Given the description of an element on the screen output the (x, y) to click on. 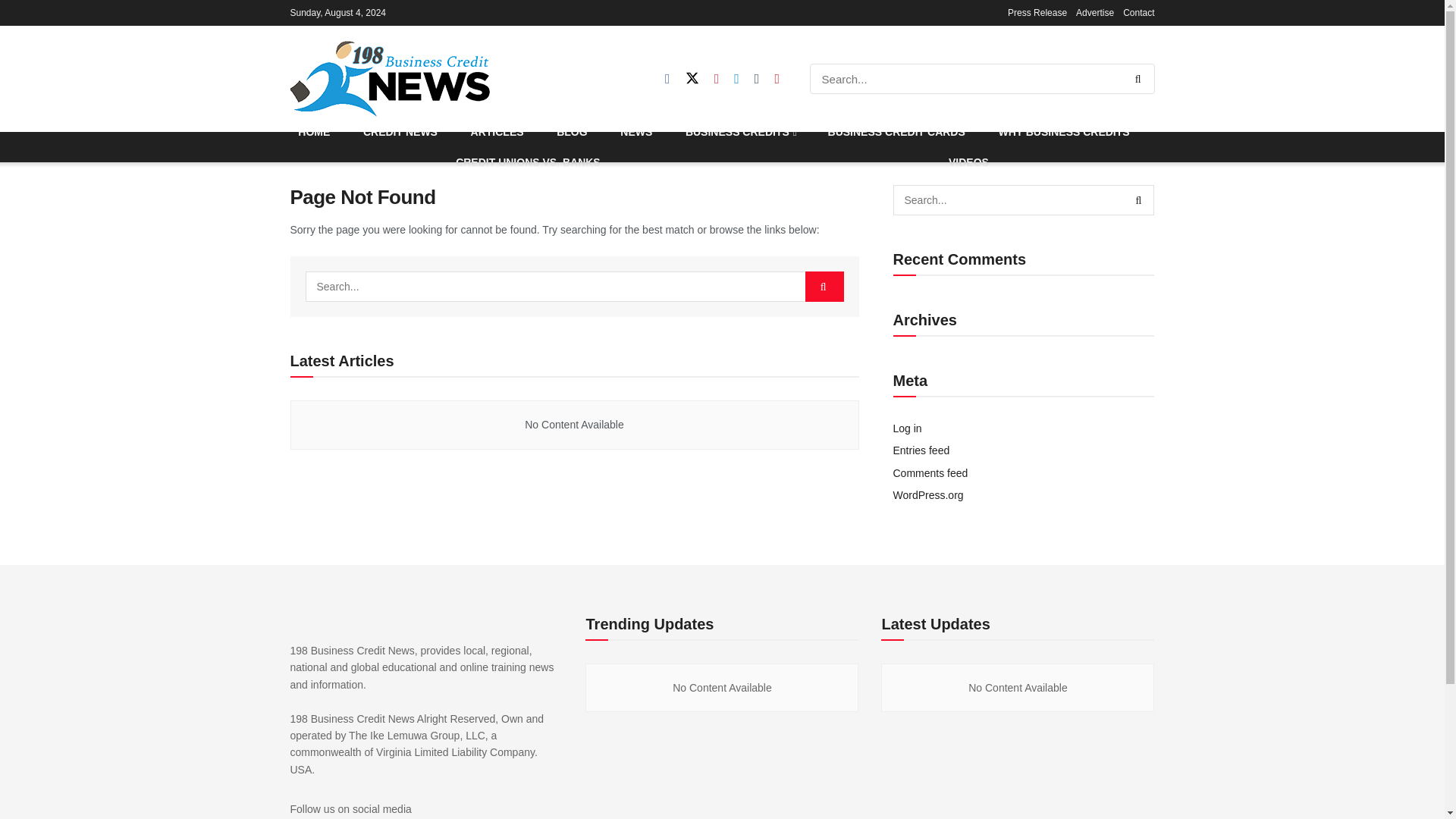
Press Release (1037, 12)
Advertise (1094, 12)
BUSINESS CREDIT CARDS (896, 132)
WordPress.org (928, 494)
NEWS (636, 132)
ARTICLES (497, 132)
CREDIT NEWS (400, 132)
Entries feed (921, 450)
CREDIT UNIONS VS. BANKS (527, 162)
BLOG (571, 132)
BUSINESS CREDITS (740, 132)
Comments feed (930, 472)
Log in (907, 428)
HOME (313, 132)
WHY BUSINESS CREDITS (1064, 132)
